Given the description of an element on the screen output the (x, y) to click on. 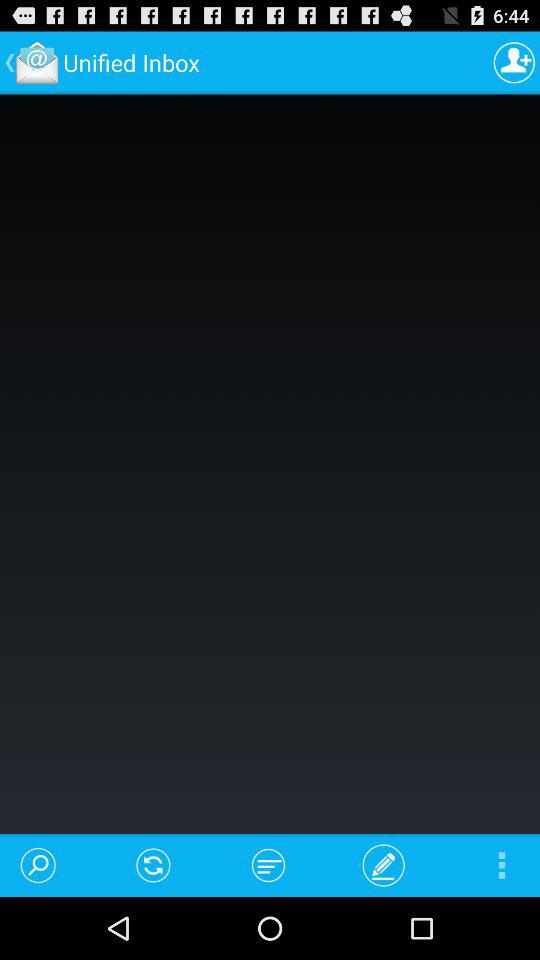
open item at the top right corner (514, 62)
